Given the description of an element on the screen output the (x, y) to click on. 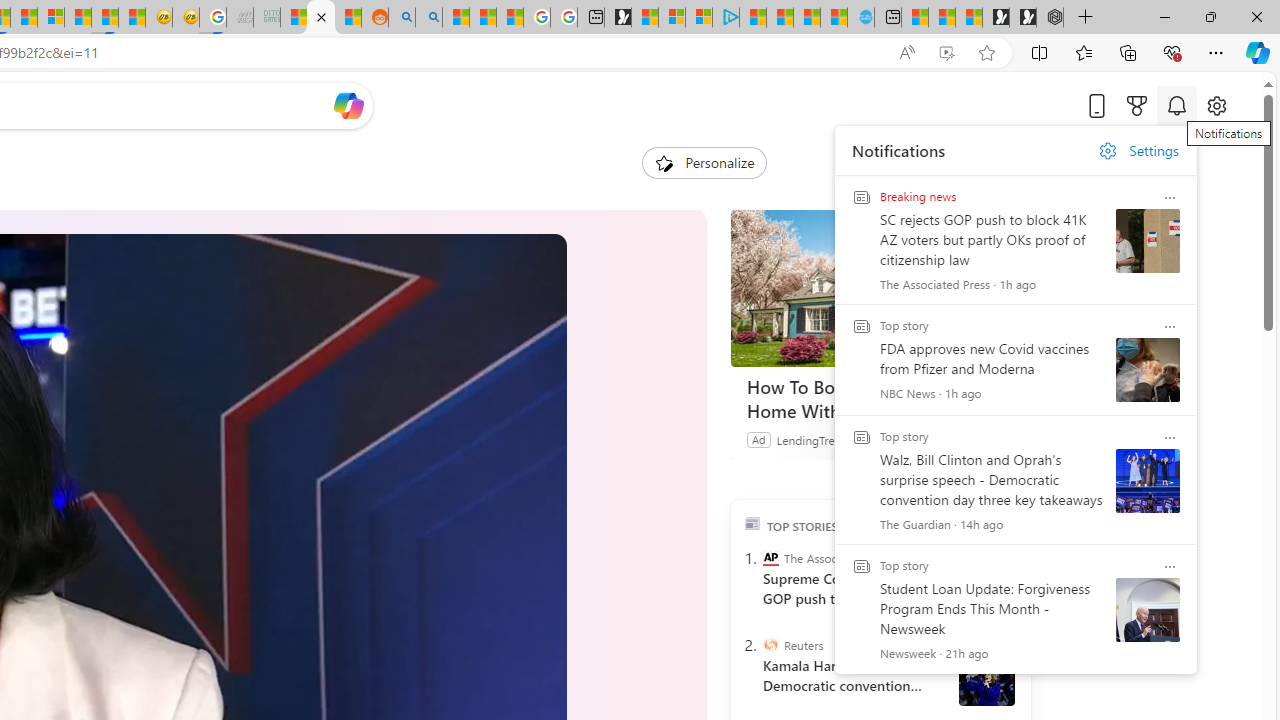
 Harris and Walz campaign in Wisconsin (986, 678)
Open settings (1216, 105)
Utah sues federal government - Search (428, 17)
